Given the description of an element on the screen output the (x, y) to click on. 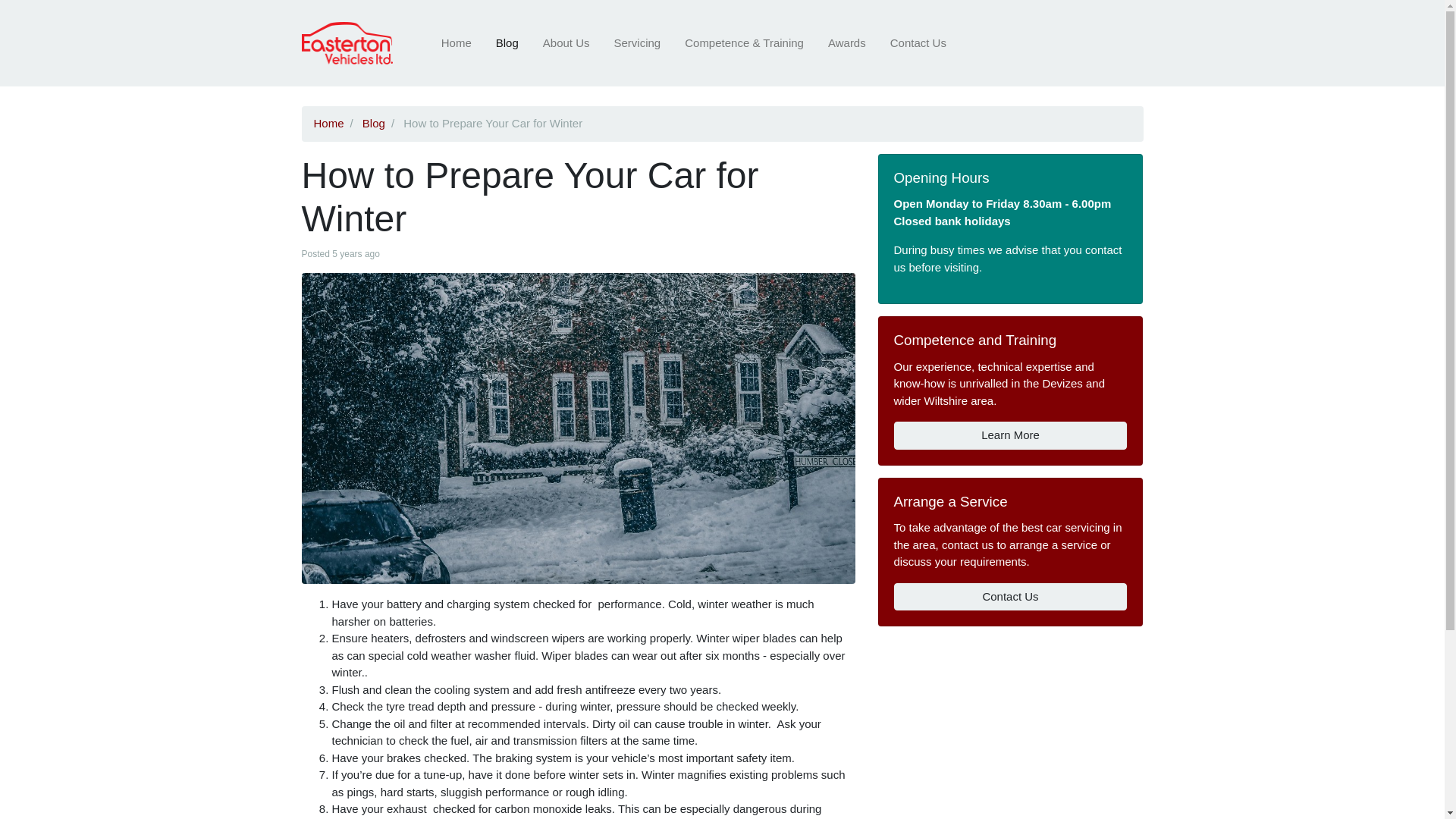
Contact Us (1009, 596)
Awards (847, 43)
Home (328, 123)
Blog (373, 123)
Home (456, 43)
Contact Us (917, 43)
Servicing (637, 43)
Blog (506, 43)
Learn More (1009, 435)
About Us (566, 43)
